Given the description of an element on the screen output the (x, y) to click on. 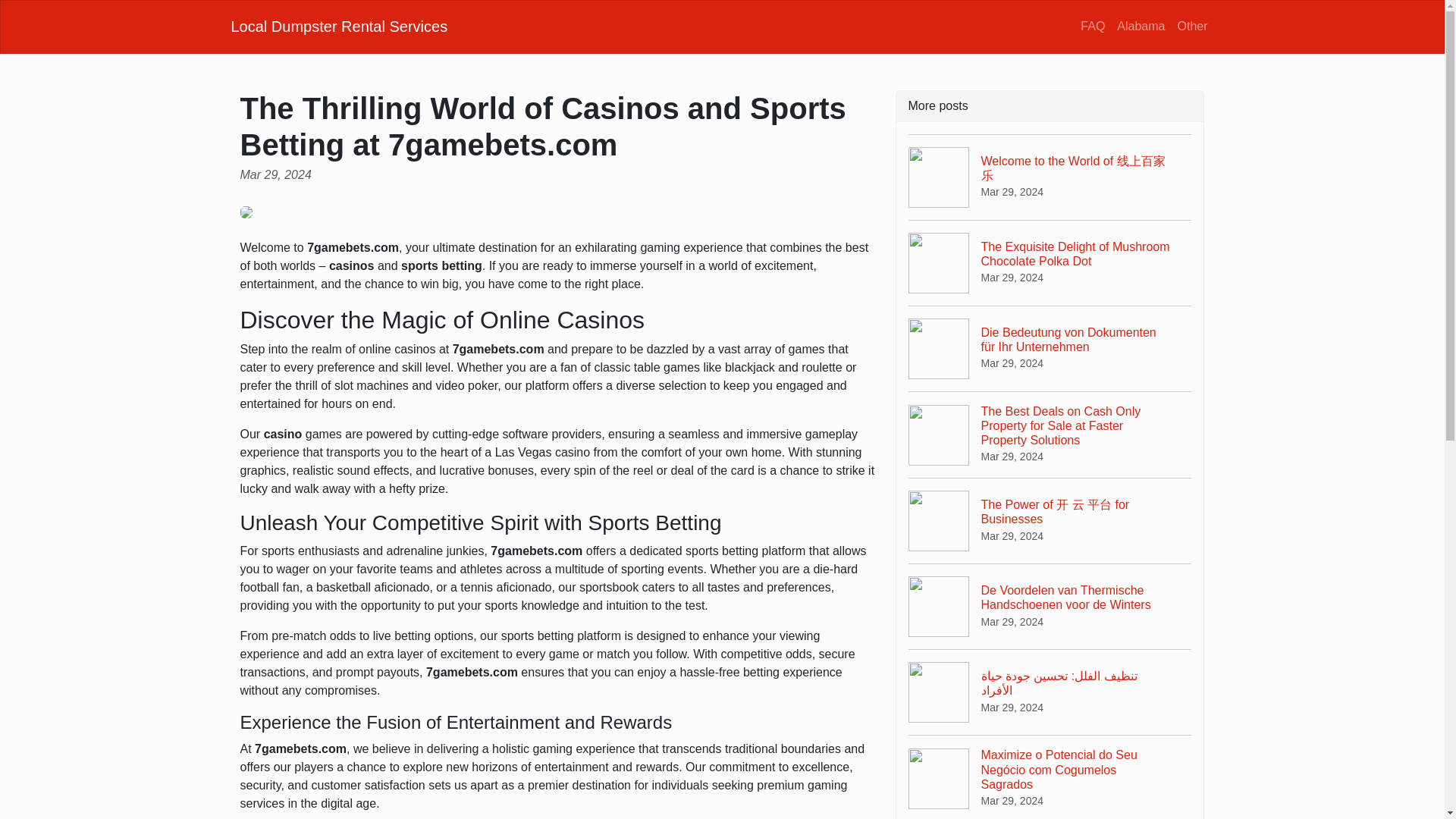
Other (1191, 26)
Local Dumpster Rental Services (338, 26)
FAQ (1092, 26)
Alabama (1140, 26)
